Given the description of an element on the screen output the (x, y) to click on. 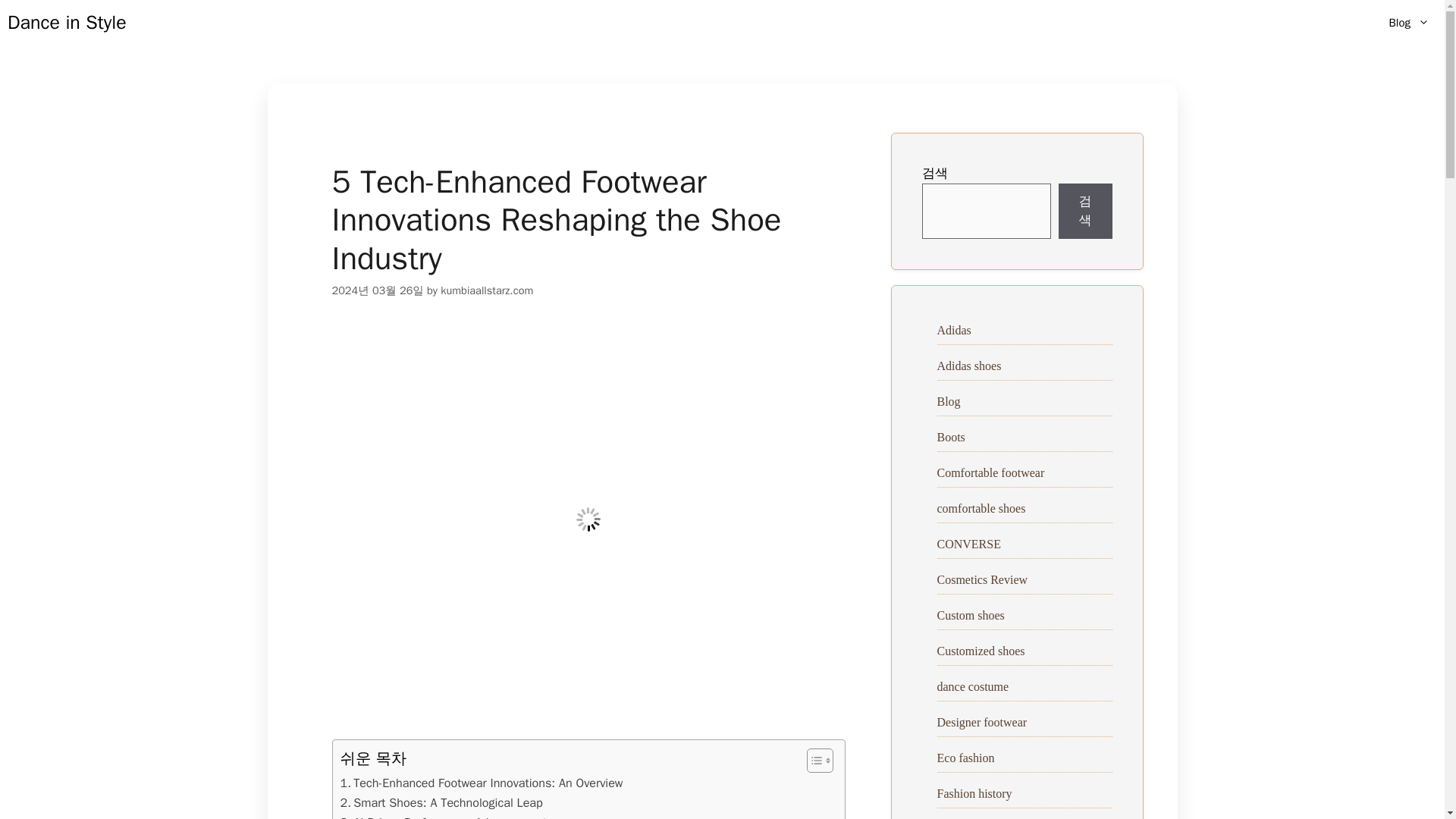
Boots (951, 436)
AI-Driven Performance Advancements (446, 816)
Adidas (954, 328)
AI-Driven Performance Advancements (446, 816)
Dance in Style (66, 22)
Comfortable footwear (991, 472)
kumbiaallstarz.com (486, 290)
Smart Shoes: A Technological Leap (440, 803)
Blog (948, 400)
Smart Shoes: A Technological Leap (440, 803)
Tech-Enhanced Footwear Innovations: An Overview (481, 783)
Tech-Enhanced Footwear Innovations: An Overview (481, 783)
View all posts by kumbiaallstarz.com (486, 290)
comfortable shoes (981, 508)
Adidas shoes (969, 365)
